Given the description of an element on the screen output the (x, y) to click on. 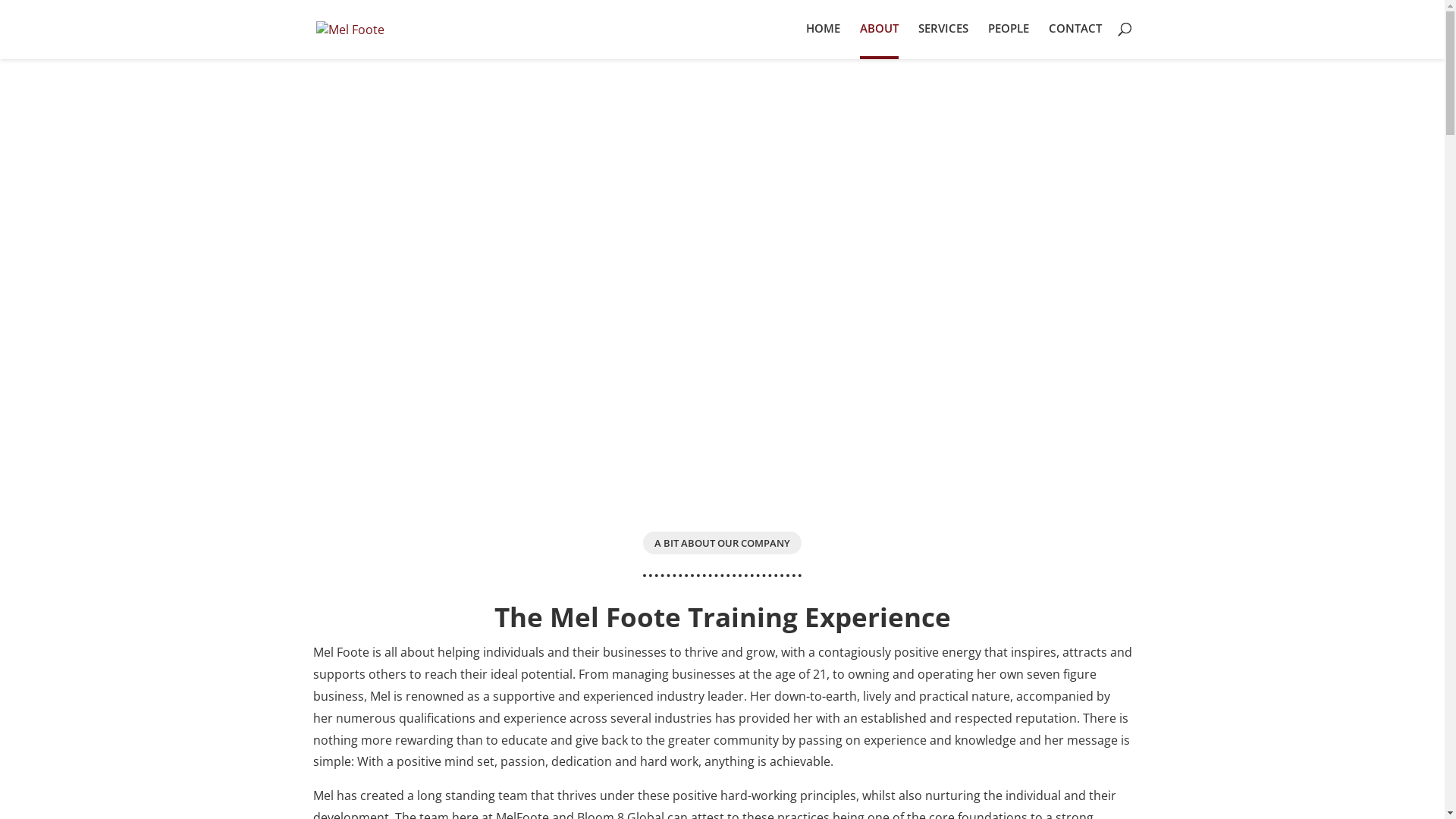
SERVICES Element type: text (942, 39)
CONTACT Element type: text (1074, 39)
ABOUT Element type: text (878, 40)
HOME Element type: text (822, 39)
PEOPLE Element type: text (1007, 39)
